Given the description of an element on the screen output the (x, y) to click on. 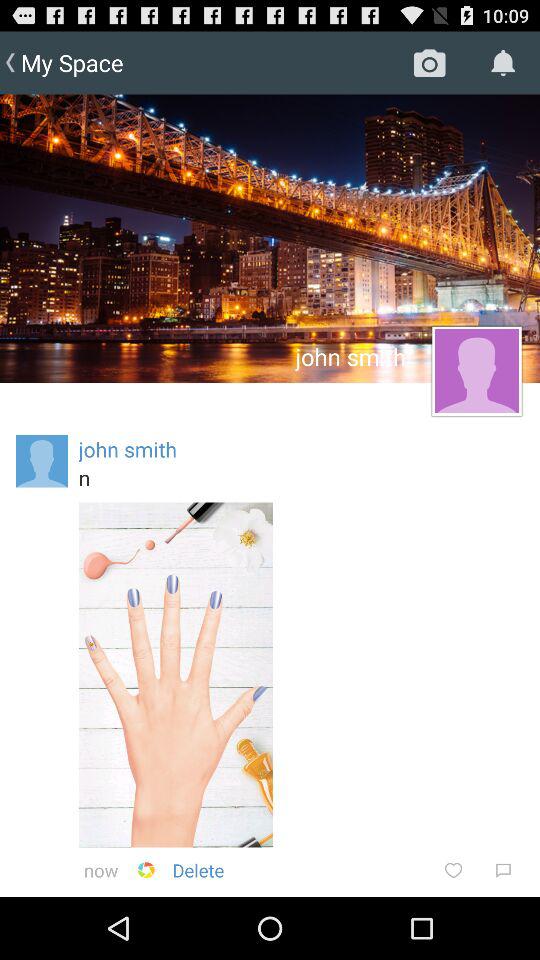
select icon next to my space app (429, 62)
